Given the description of an element on the screen output the (x, y) to click on. 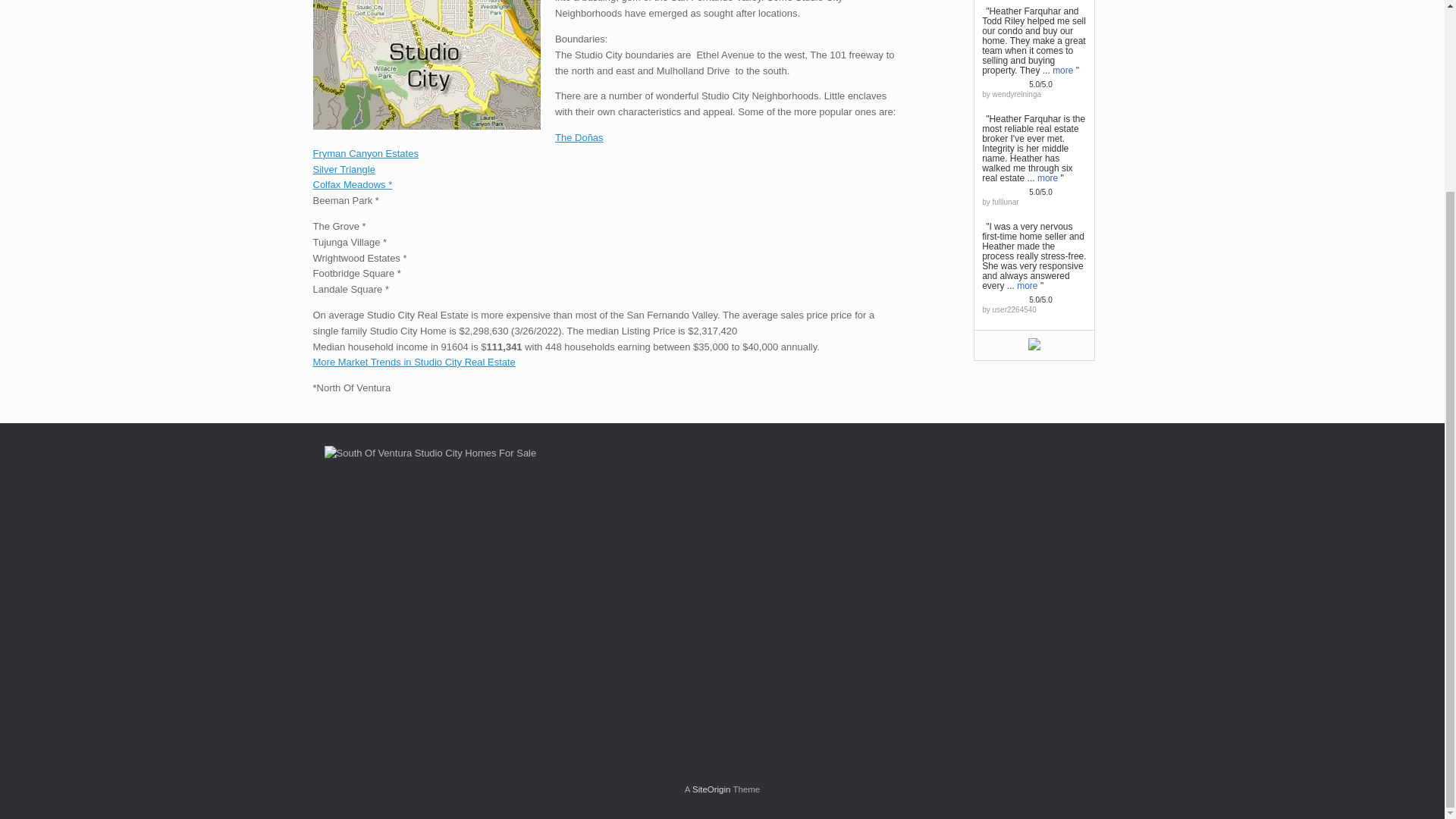
more (1047, 176)
more (1062, 69)
Fryman Canyon Estates (365, 153)
SiteOrigin (711, 788)
More Market Trends in Studio City Real Estate (414, 361)
more (1026, 285)
Silver Triangle (343, 169)
